Given the description of an element on the screen output the (x, y) to click on. 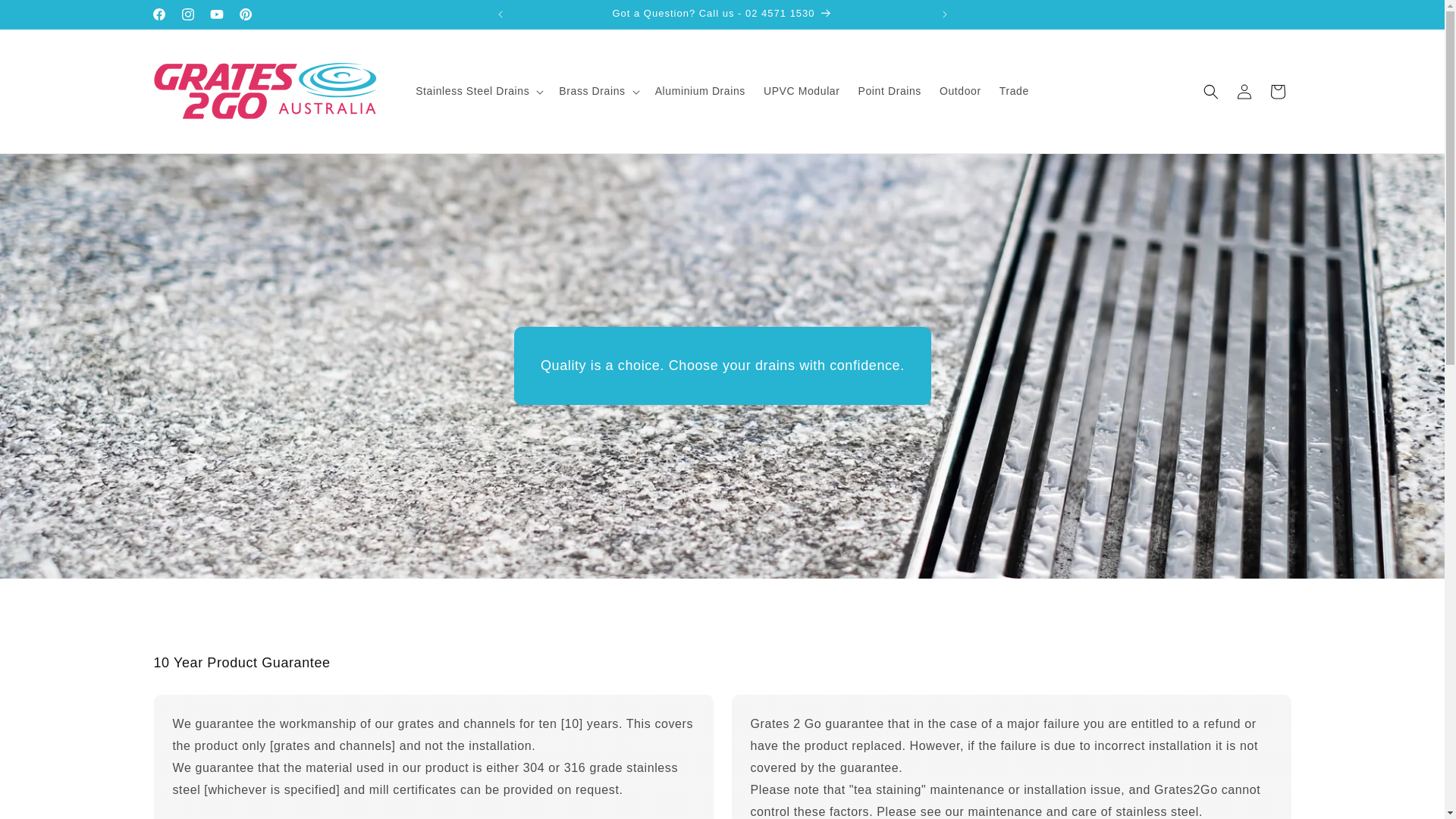
Instagram Element type: text (186, 14)
Download our Product Catalogue Element type: text (722, 14)
Pinterest Element type: text (244, 14)
Cart Element type: text (1276, 90)
Aluminium Drains Element type: text (700, 90)
Point Drains Element type: text (889, 90)
Facebook Element type: text (158, 14)
Trade Element type: text (1014, 90)
Log in Element type: text (1243, 90)
YouTube Element type: text (215, 14)
UPVC Modular Element type: text (801, 90)
Outdoor Element type: text (960, 90)
